Given the description of an element on the screen output the (x, y) to click on. 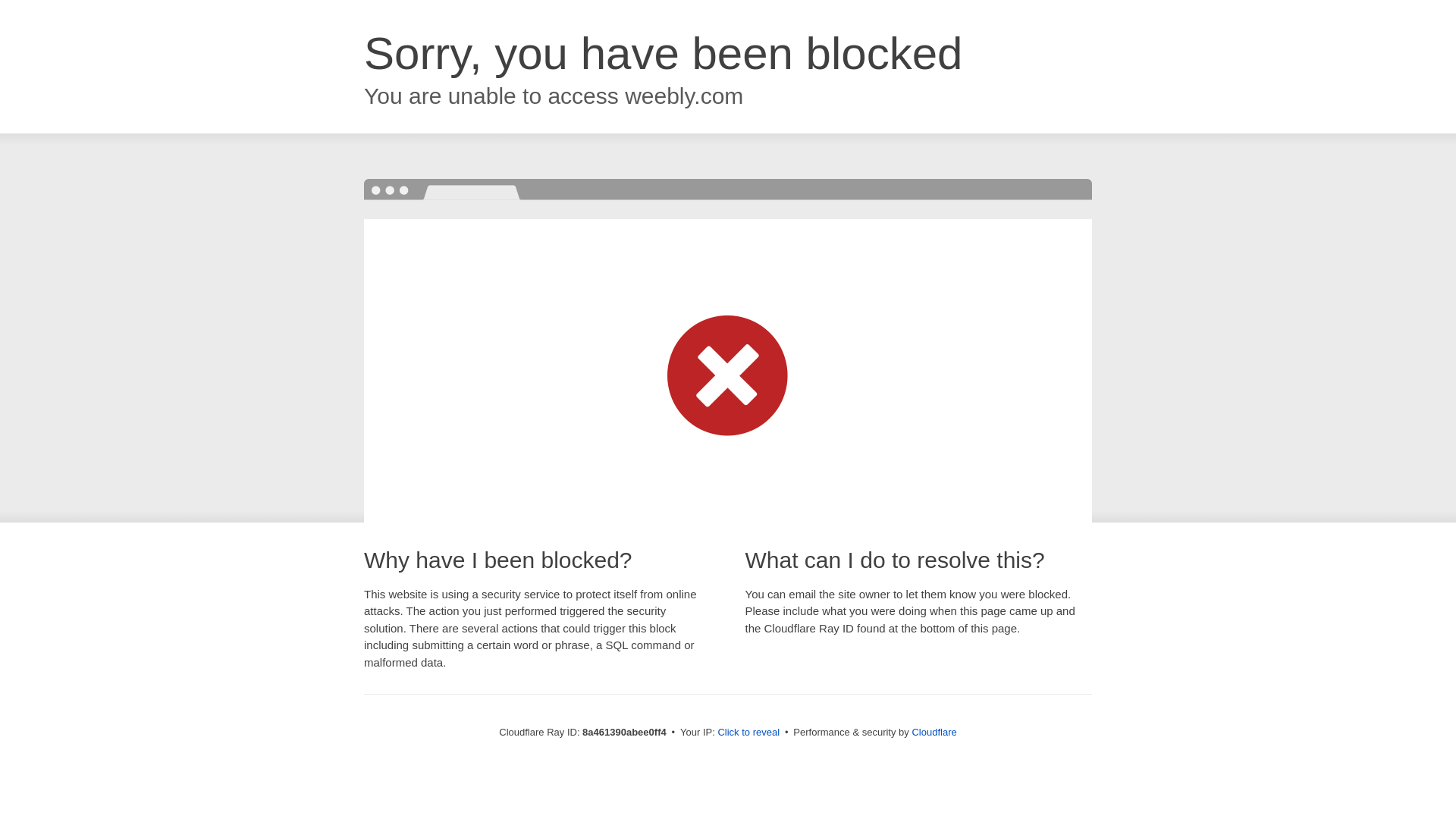
Click to reveal (747, 732)
Cloudflare (933, 731)
